Given the description of an element on the screen output the (x, y) to click on. 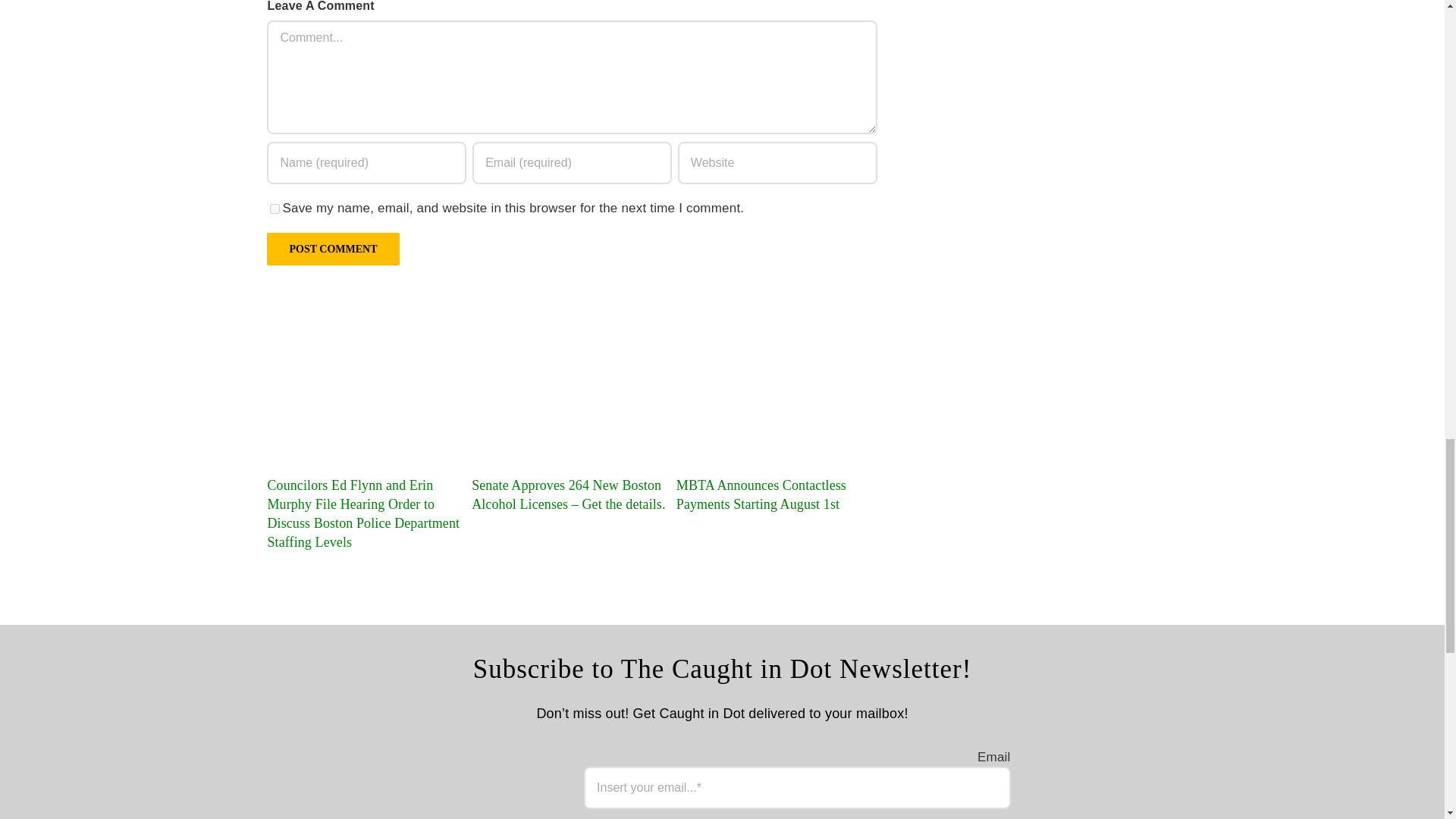
Post Comment (332, 248)
yes (274, 208)
